Given the description of an element on the screen output the (x, y) to click on. 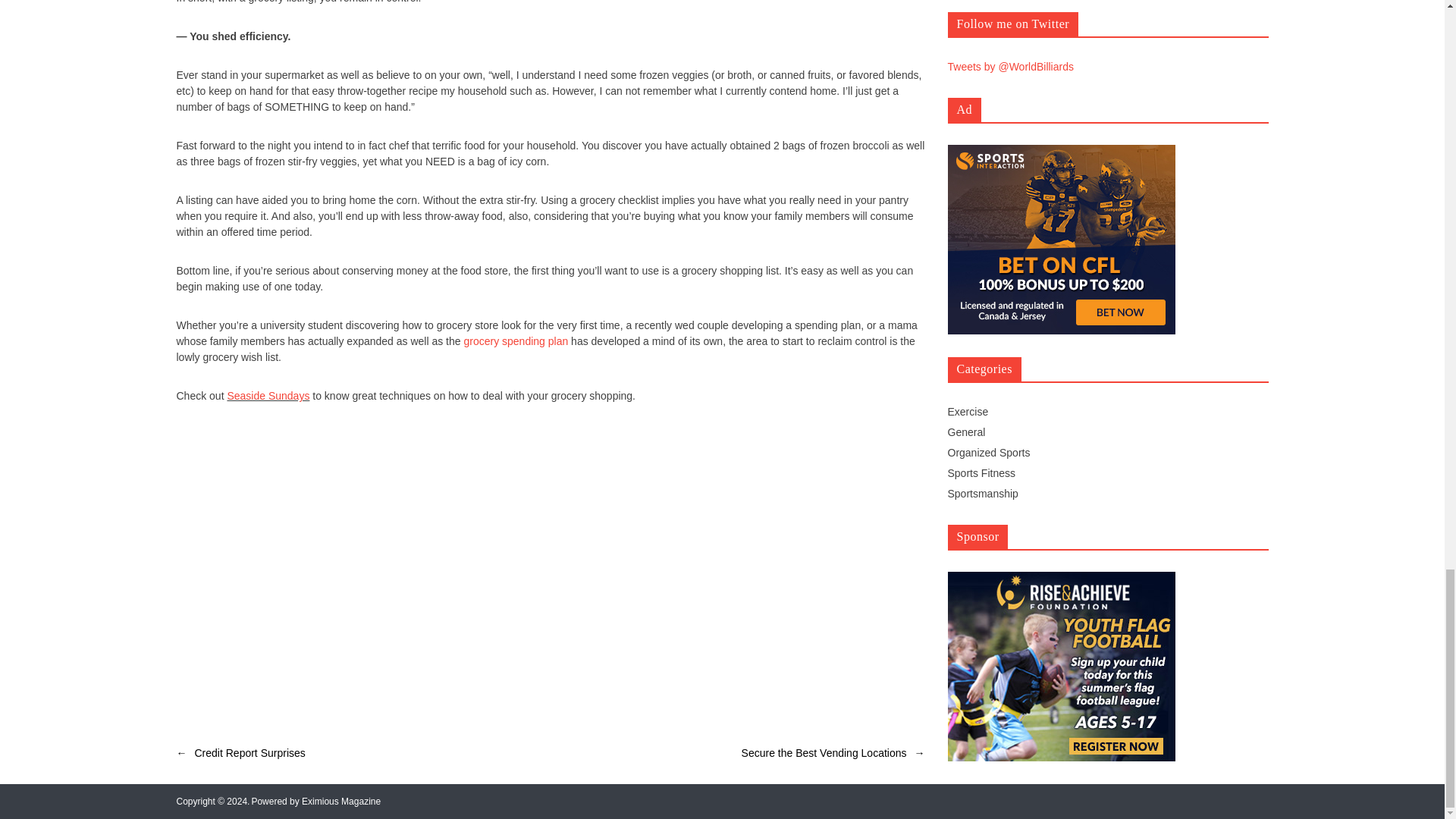
YouTube video player (418, 563)
grocery spending plan (515, 340)
Seaside Sundays (267, 395)
